Given the description of an element on the screen output the (x, y) to click on. 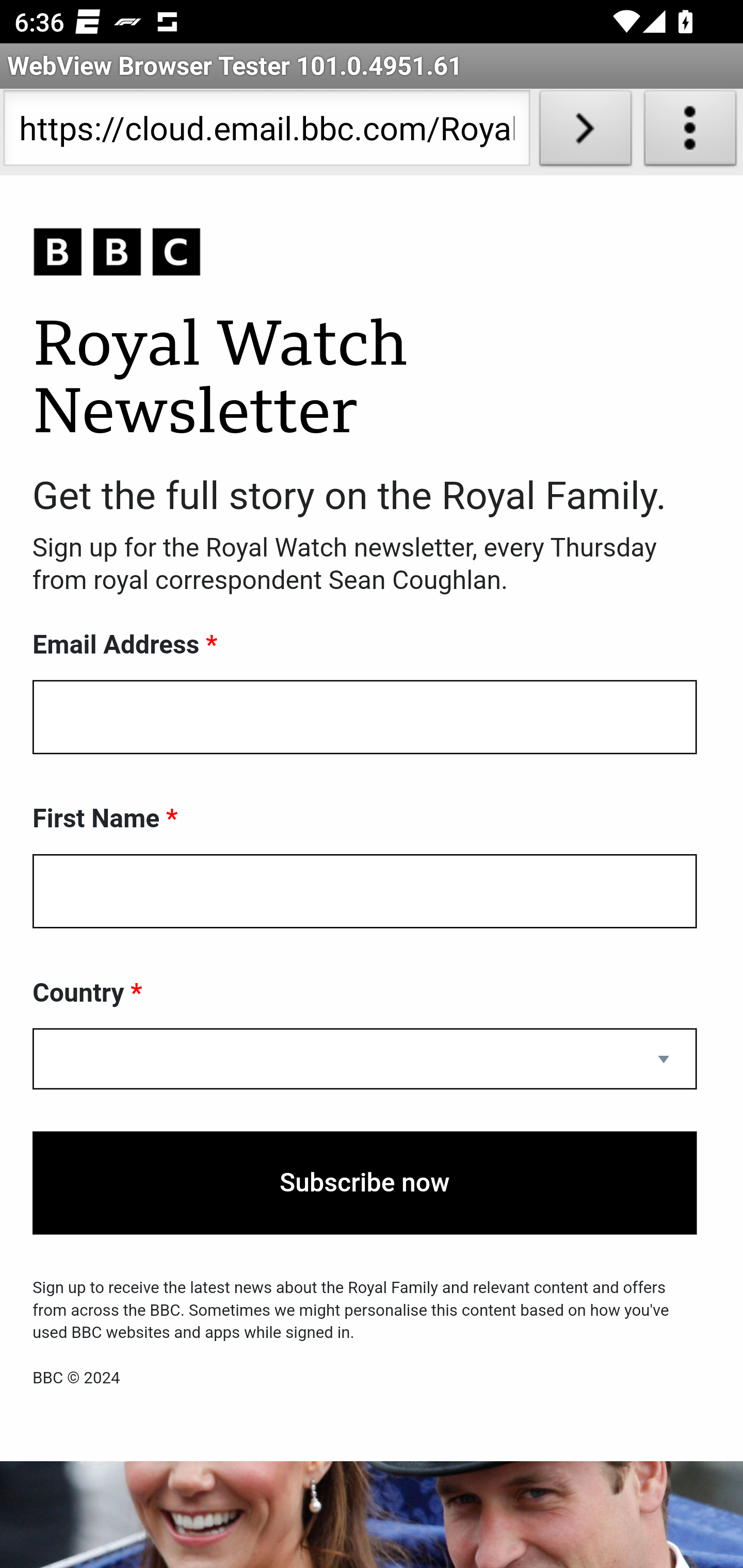
Load URL (585, 132)
About WebView (690, 132)
BBC (364, 253)
Subscribe now (364, 1182)
